Given the description of an element on the screen output the (x, y) to click on. 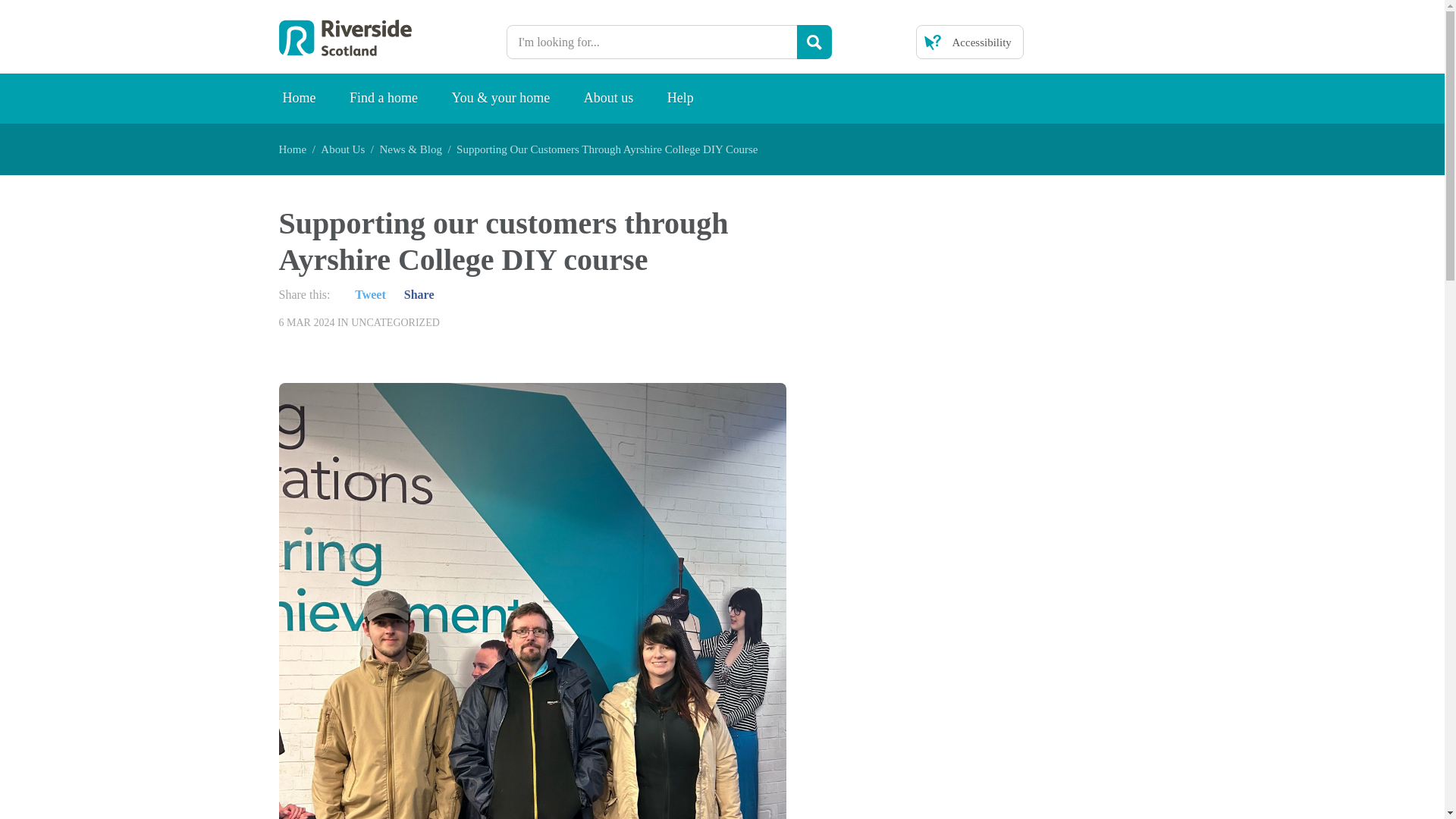
Find a home (383, 98)
About us (609, 98)
Home (293, 149)
Accessibility (969, 41)
Help (680, 98)
Home (298, 98)
